Given the description of an element on the screen output the (x, y) to click on. 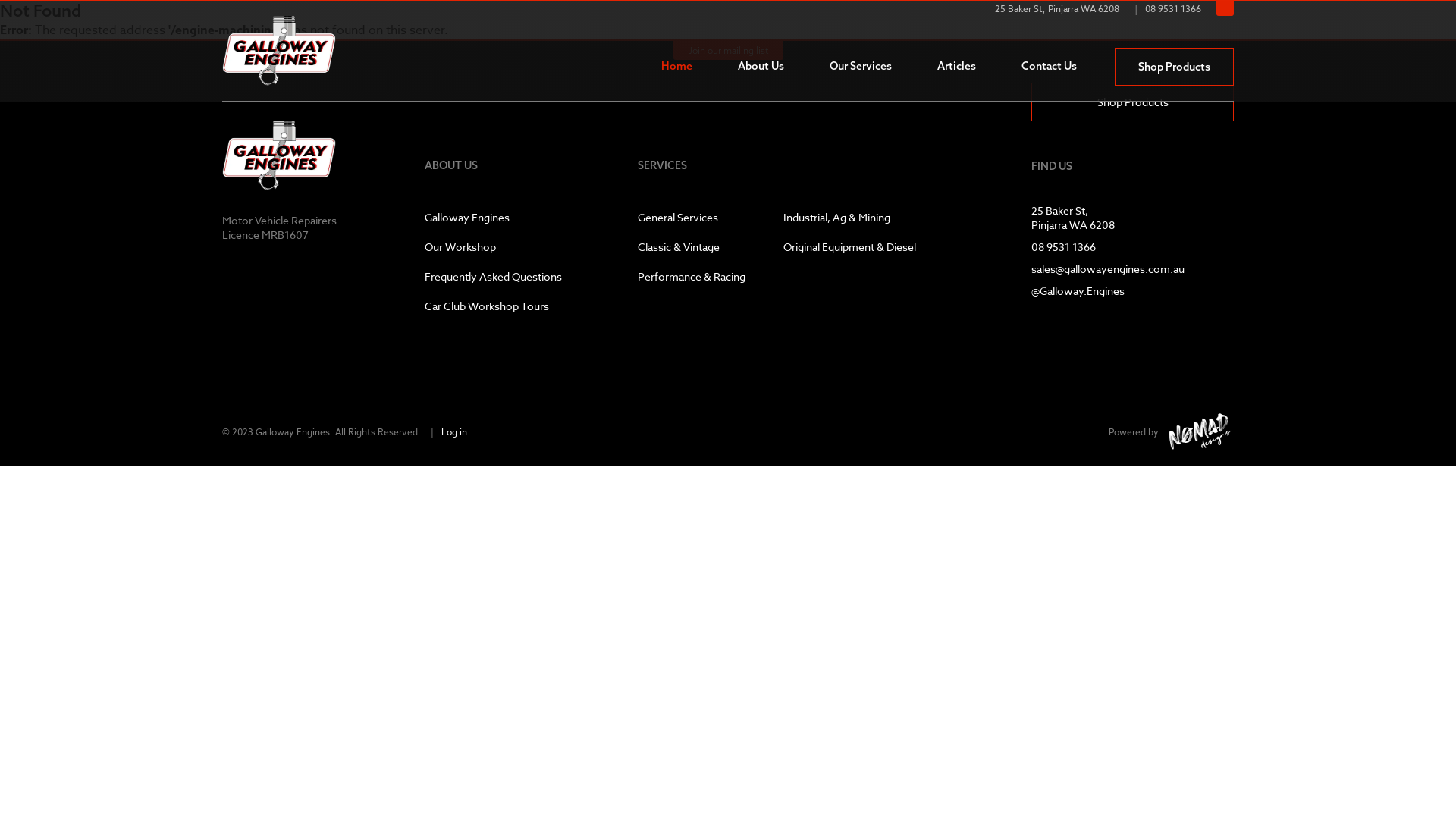
General Services Element type: text (691, 217)
Join our mailing list Element type: text (728, 49)
08 9531 1366 Element type: text (1063, 246)
@Galloway.Engines Element type: text (1077, 290)
sales@gallowayengines.com.au Element type: text (1107, 268)
Shop Products Element type: text (1173, 66)
08 9531 1366 Element type: text (1173, 7)
Our Workshop Element type: text (492, 246)
Industrial, Ag & Mining Element type: text (849, 217)
Articles Element type: text (956, 65)
Classic & Vintage Element type: text (691, 246)
Shop Products Element type: text (1132, 101)
Our Services Element type: text (860, 65)
Galloway Engines Element type: text (492, 217)
Frequently Asked Questions Element type: text (492, 276)
Car Club Workshop Tours Element type: text (492, 305)
Performance & Racing Element type: text (691, 276)
Contact Us Element type: text (1048, 65)
Original Equipment & Diesel Element type: text (849, 246)
Home Element type: text (676, 65)
Log in Element type: text (454, 430)
About Us Element type: text (760, 65)
